Given the description of an element on the screen output the (x, y) to click on. 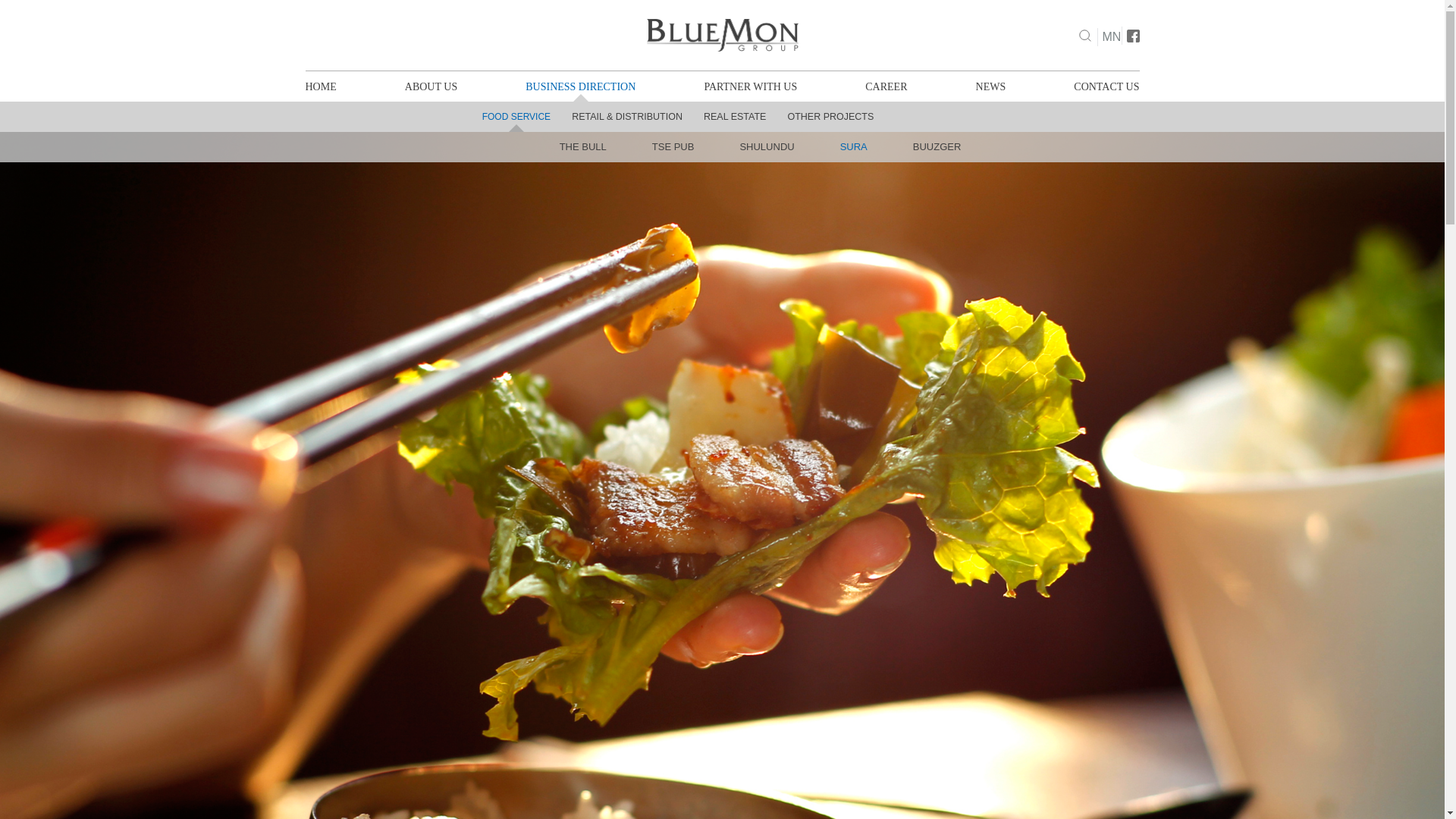
HOME (320, 86)
THE BULL (582, 146)
BUUZGER (936, 146)
FOOD SERVICE (515, 116)
SURA (852, 146)
TSE PUB (672, 146)
REAL ESTATE (734, 116)
CONTACT US (1106, 86)
CAREER (885, 86)
OTHER PROJECTS (830, 116)
ABOUT US (430, 86)
BUSINESS DIRECTION (579, 86)
MN (1111, 36)
NEWS (990, 86)
PARTNER WITH US (749, 86)
